Given the description of an element on the screen output the (x, y) to click on. 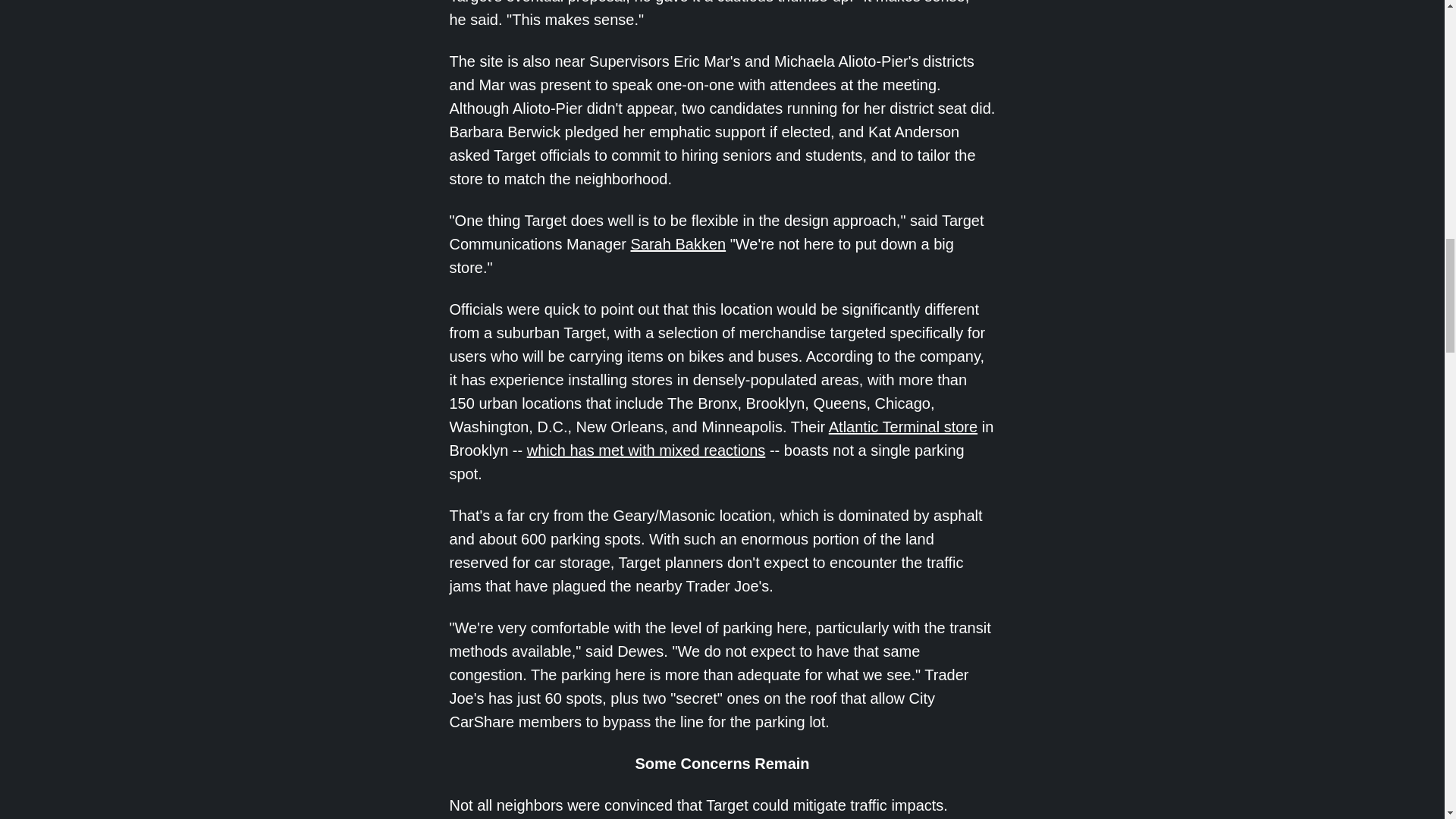
Sarah Bakken (678, 243)
Atlantic Terminal store (902, 426)
which has met with mixed reactions (646, 450)
